Given the description of an element on the screen output the (x, y) to click on. 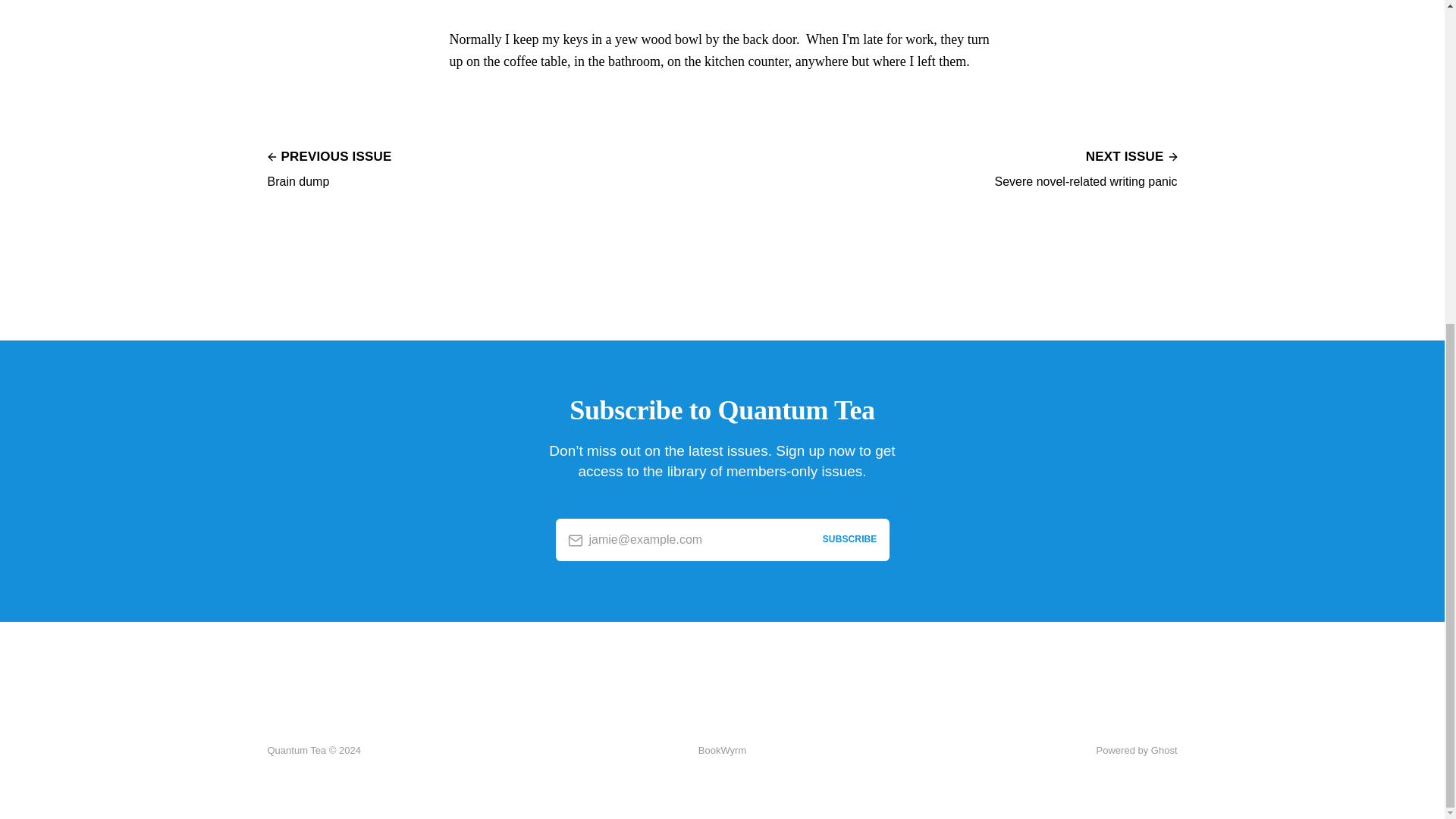
BookWyrm (721, 750)
Powered by Ghost (1085, 167)
